Given the description of an element on the screen output the (x, y) to click on. 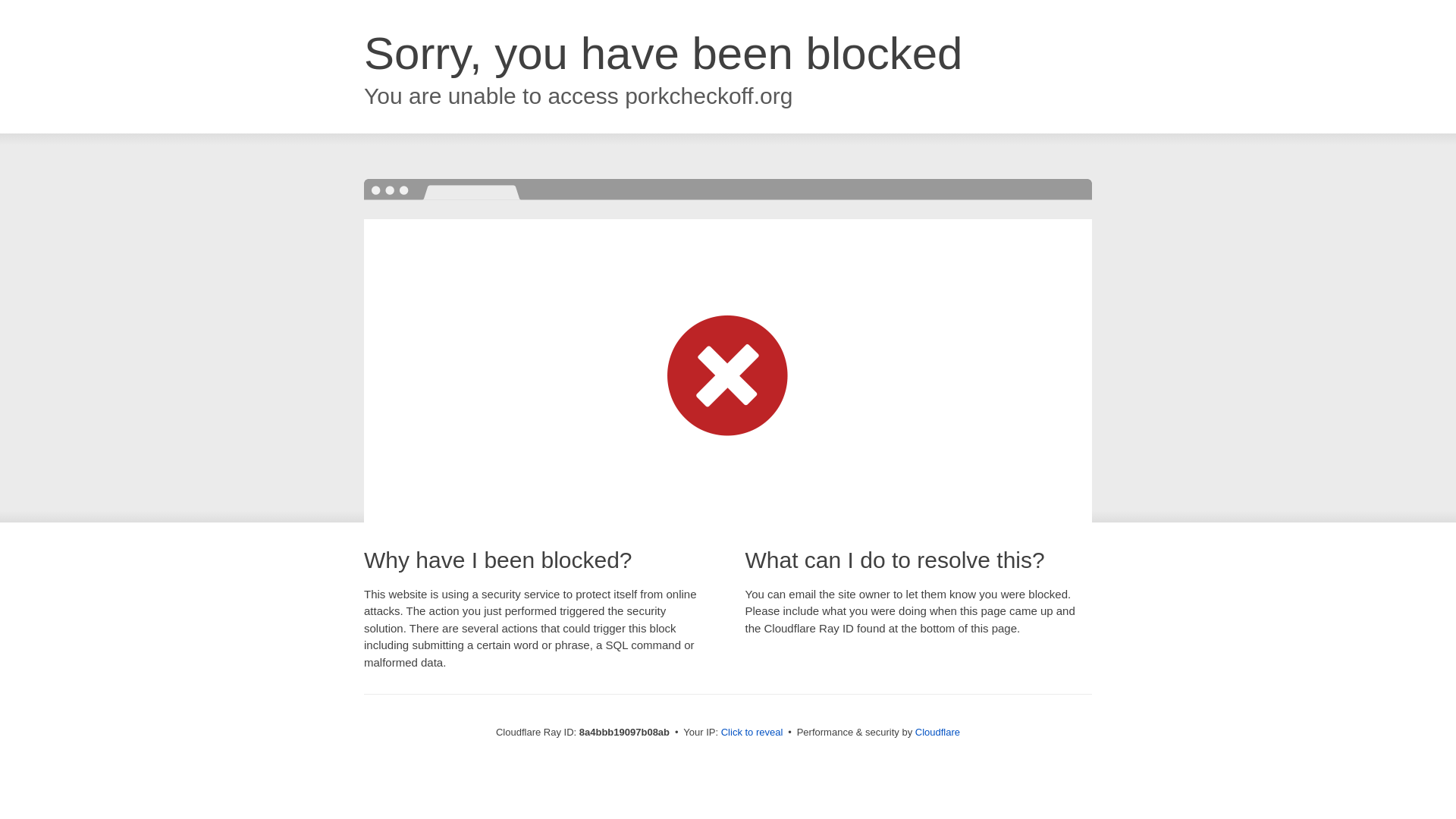
Click to reveal (751, 732)
Cloudflare (937, 731)
